Given the description of an element on the screen output the (x, y) to click on. 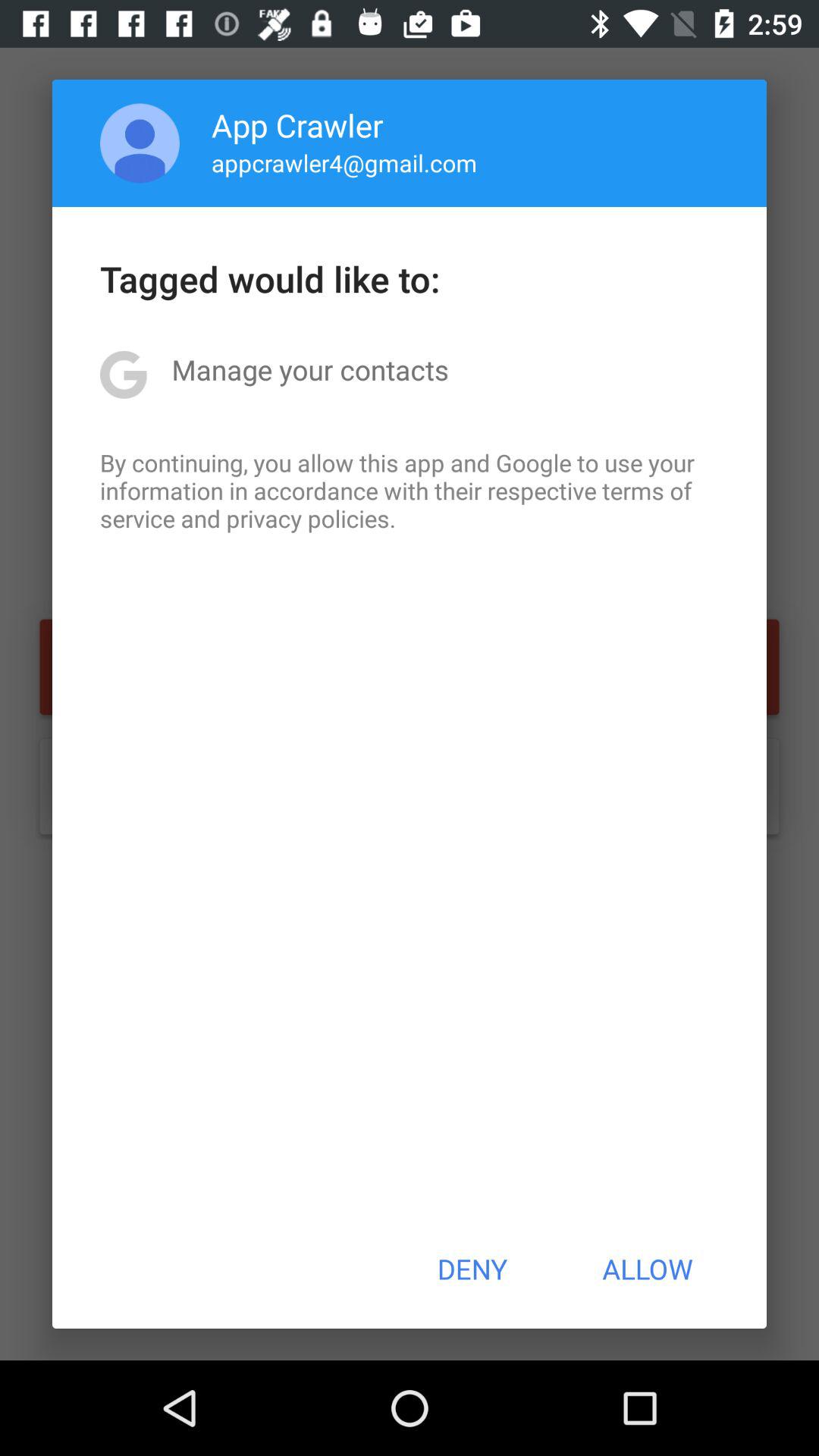
launch the manage your contacts (309, 369)
